Given the description of an element on the screen output the (x, y) to click on. 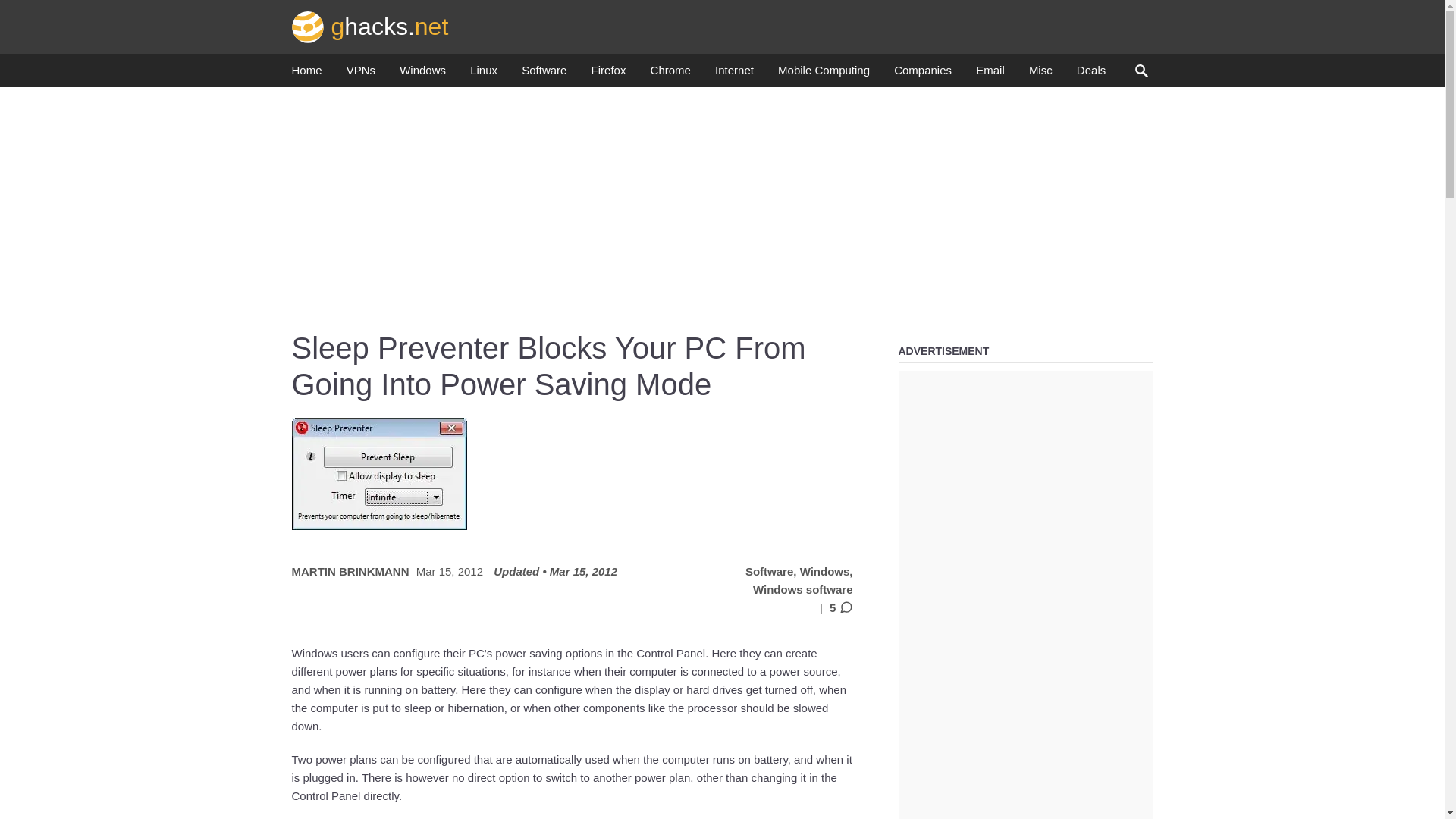
Firefox (608, 73)
VPNs (360, 73)
ghacks.net (369, 26)
Internet (734, 73)
Linux (483, 73)
Deals (1091, 73)
Home (306, 73)
Companies (922, 73)
Software (543, 73)
Chrome (670, 73)
Email (989, 73)
Windows (421, 73)
Mobile Computing (823, 73)
Misc (1040, 73)
